Given the description of an element on the screen output the (x, y) to click on. 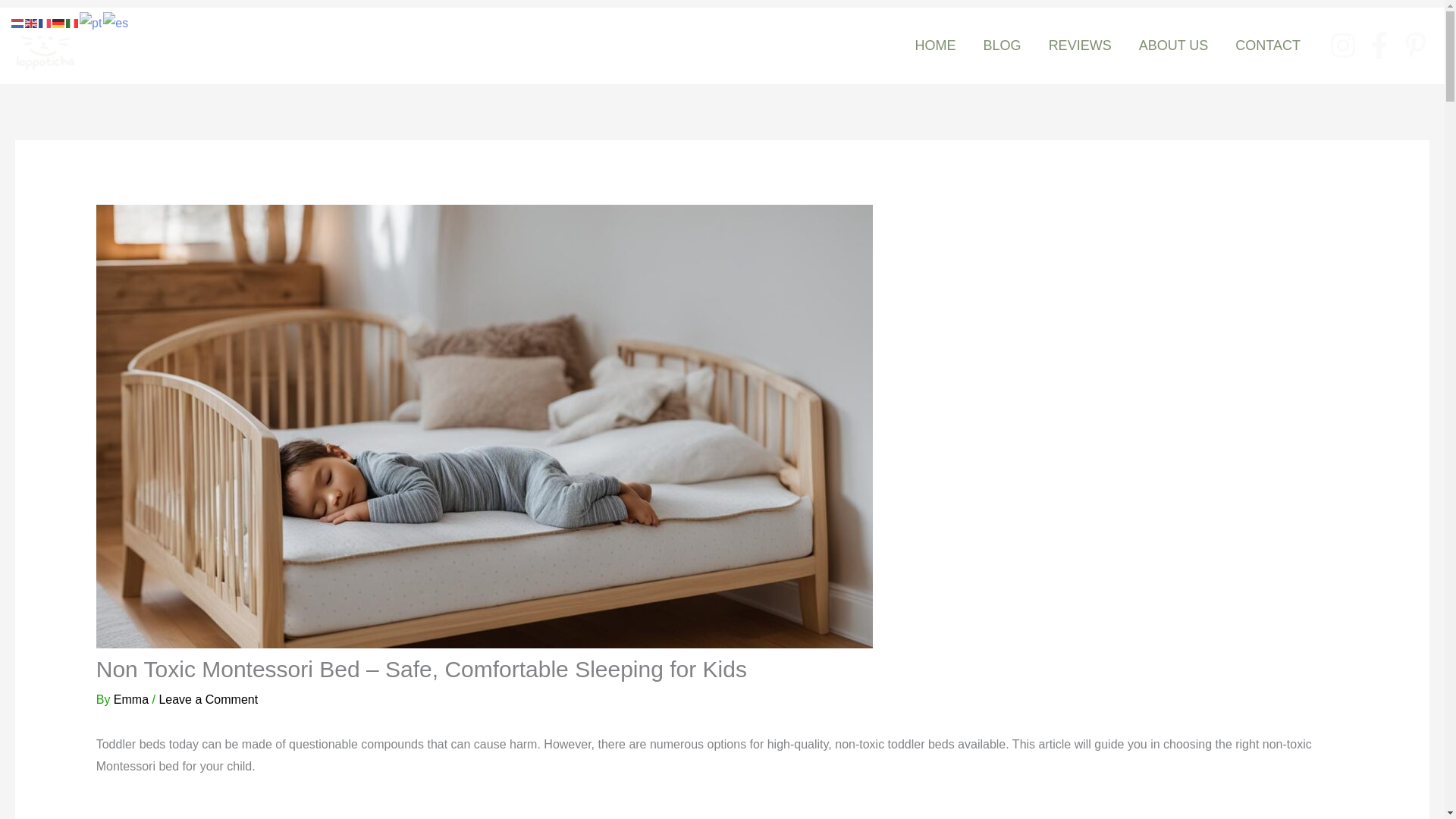
Leave a Comment (207, 698)
HOME (935, 45)
Emma (132, 698)
BLOG (1002, 45)
View all posts by Emma (132, 698)
CONTACT (1267, 45)
ABOUT US (1174, 45)
REVIEWS (1080, 45)
